Given the description of an element on the screen output the (x, y) to click on. 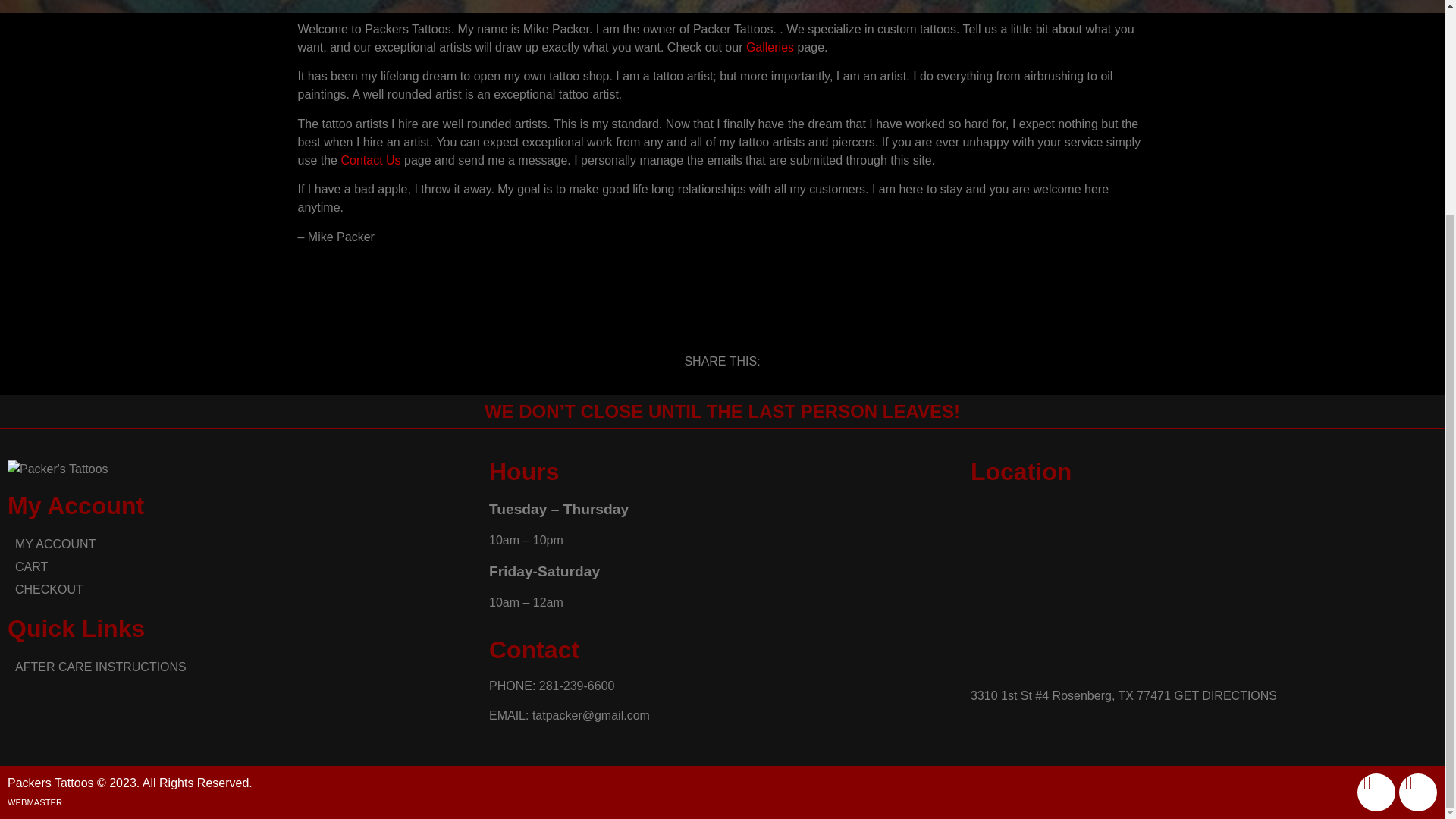
WEBMASTER (34, 801)
CHECKOUT (240, 589)
Contact Us (370, 160)
281-239-6600 (576, 685)
AFTER CARE INSTRUCTIONS (240, 667)
Galleries (769, 47)
MY ACCOUNT (240, 544)
GET DIRECTIONS (1224, 695)
Packer's Tattoos (1204, 584)
CART (240, 567)
